Given the description of an element on the screen output the (x, y) to click on. 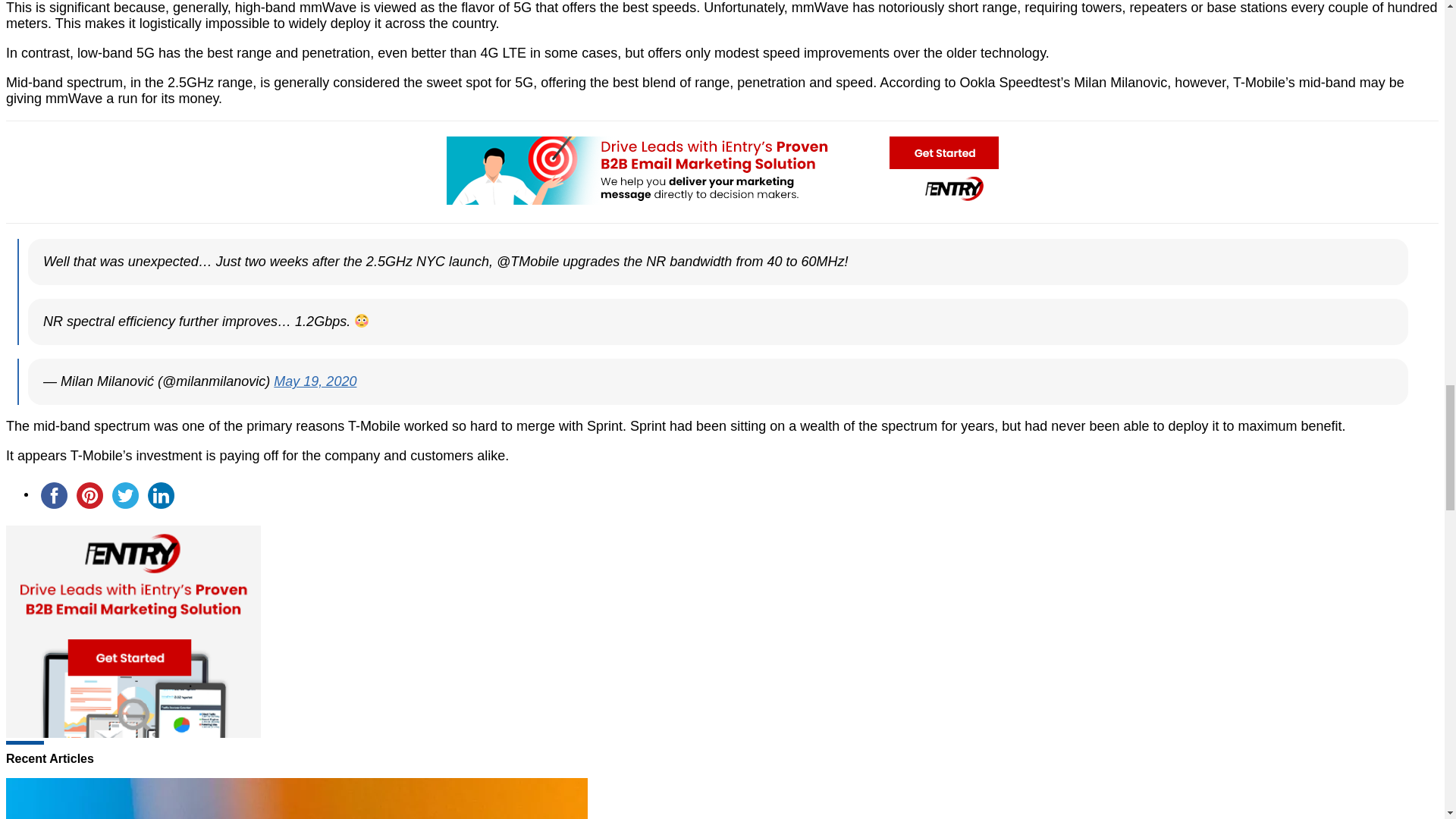
twitter (124, 495)
pinterest (89, 495)
facebook (53, 495)
